Given the description of an element on the screen output the (x, y) to click on. 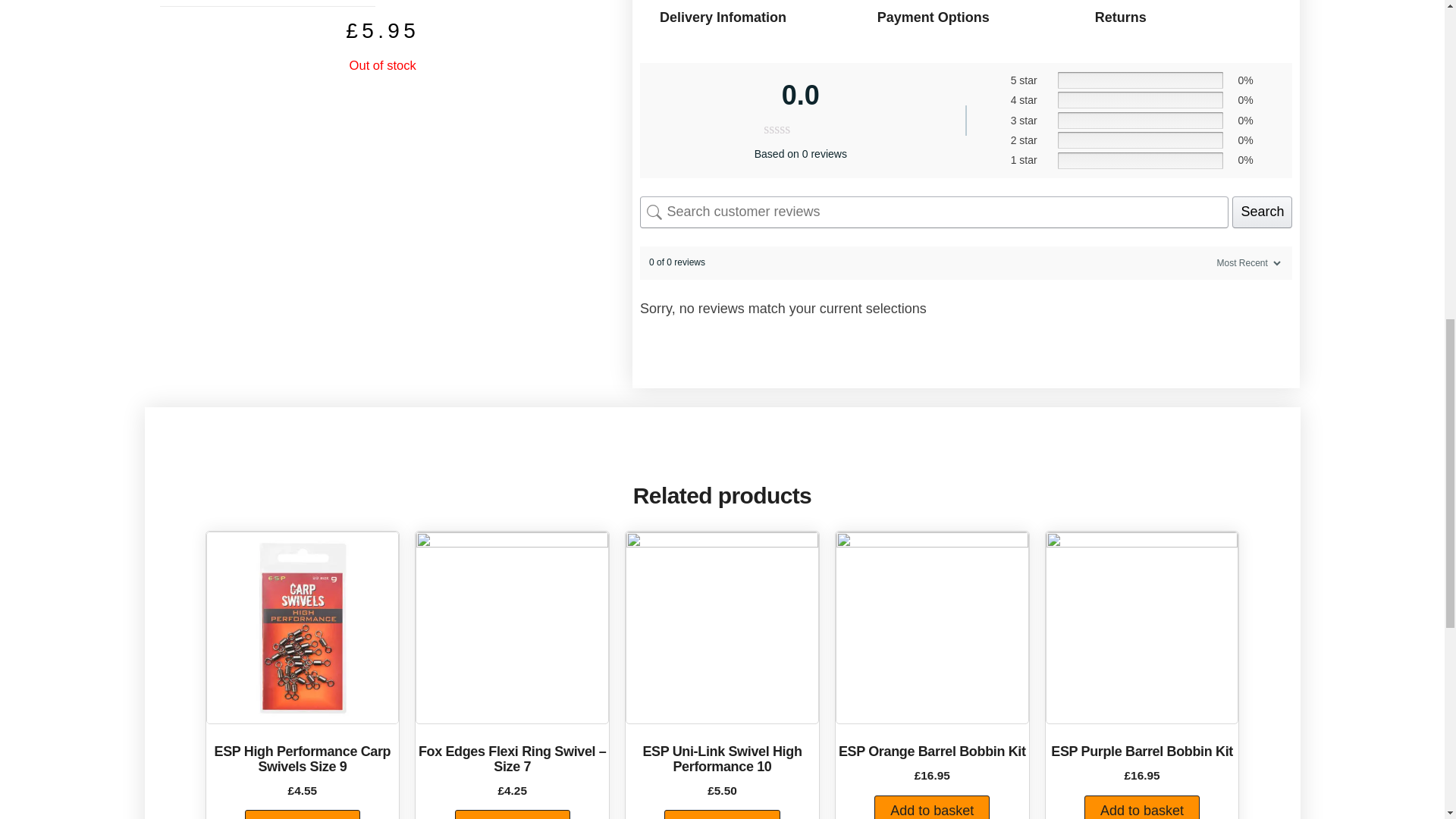
Add to basket (301, 814)
Search (1261, 212)
Crowthorne Angling (511, 627)
Crowthorne Angling (932, 627)
Crowthorne Angling (1142, 627)
Crowthorne Angling (722, 627)
Crowthorne Angling (302, 627)
Add to basket (512, 814)
